Given the description of an element on the screen output the (x, y) to click on. 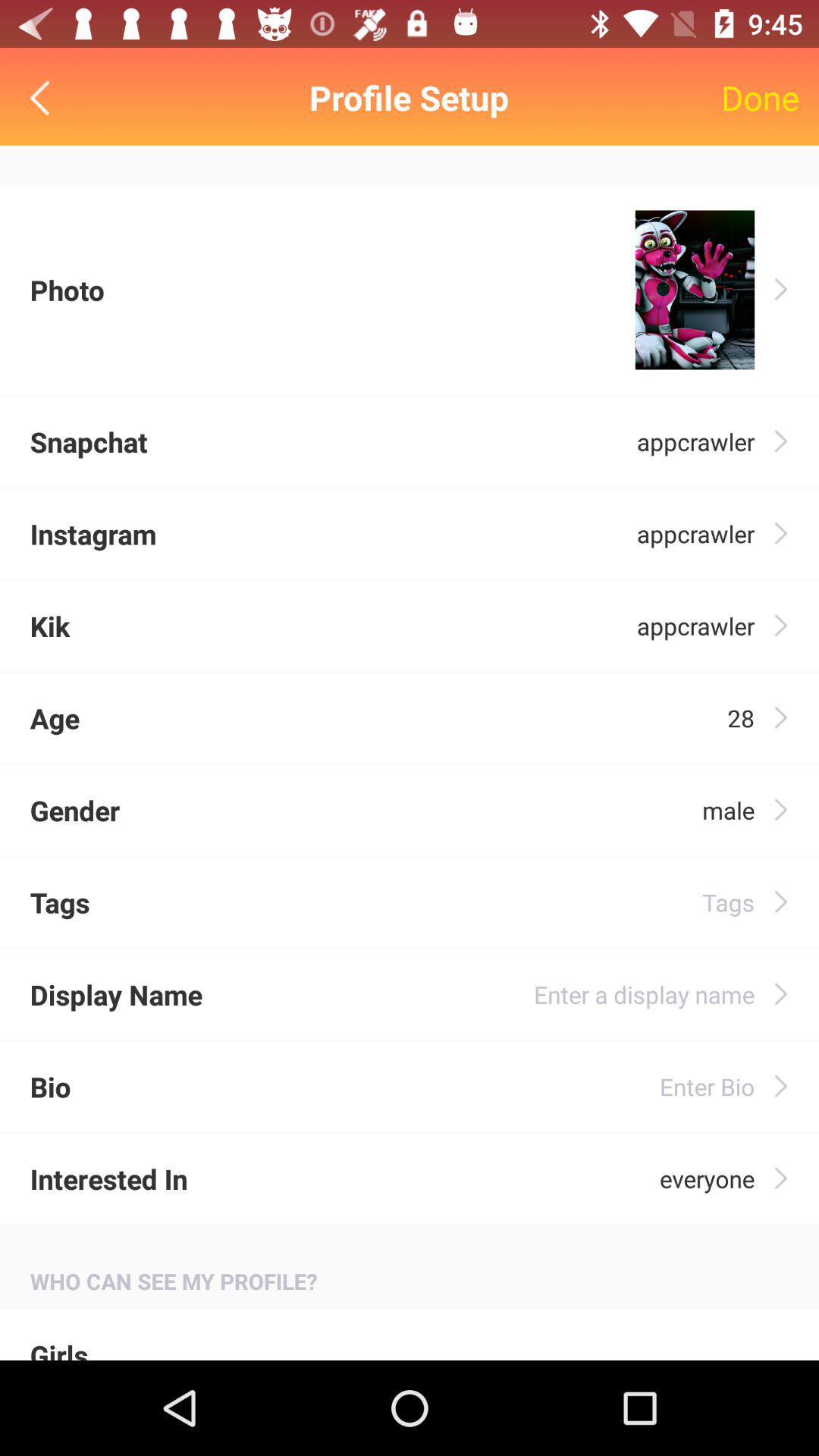
open the icon next to the profile setup (760, 97)
